Given the description of an element on the screen output the (x, y) to click on. 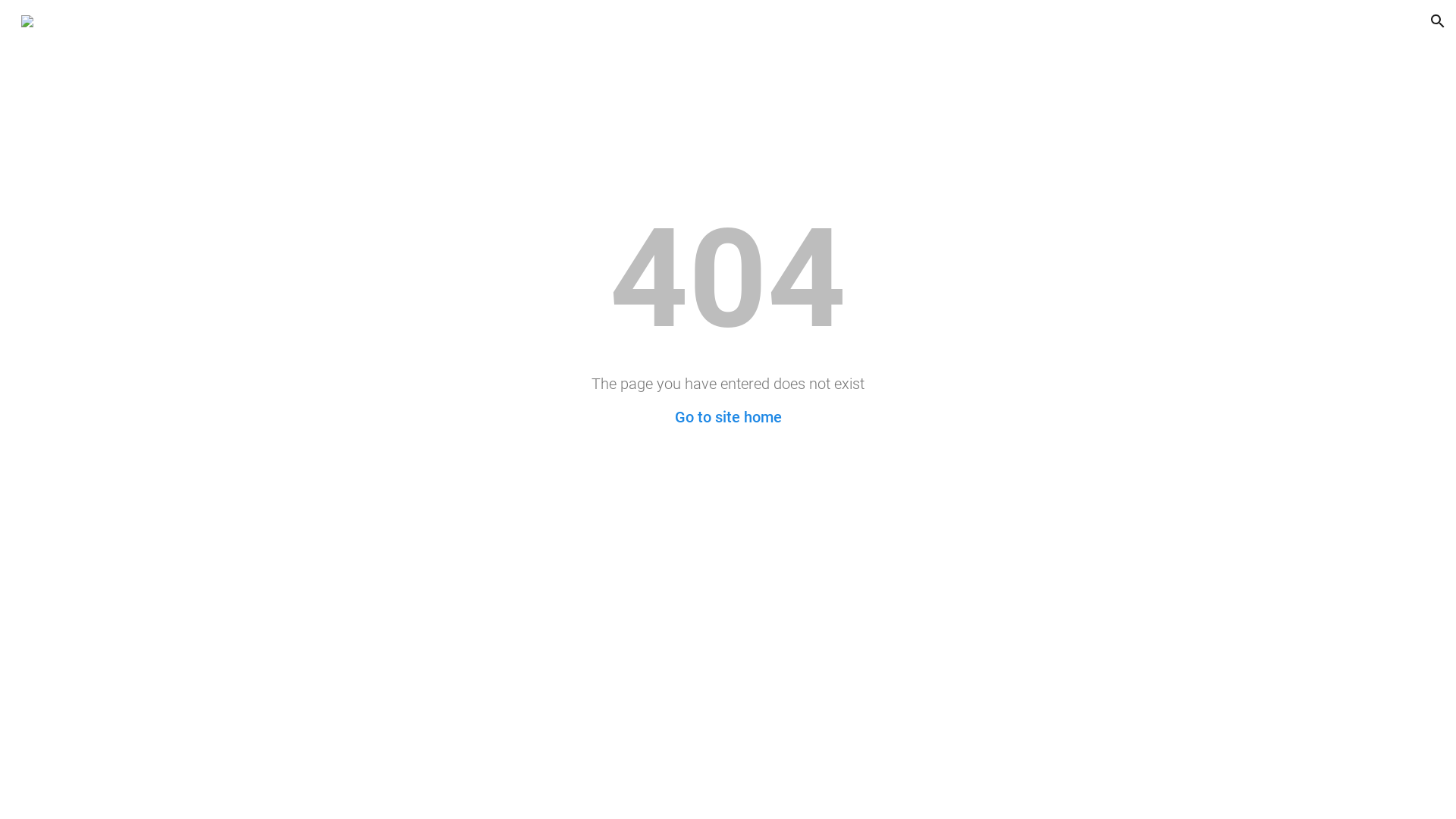
Go to site home Element type: text (727, 416)
